Given the description of an element on the screen output the (x, y) to click on. 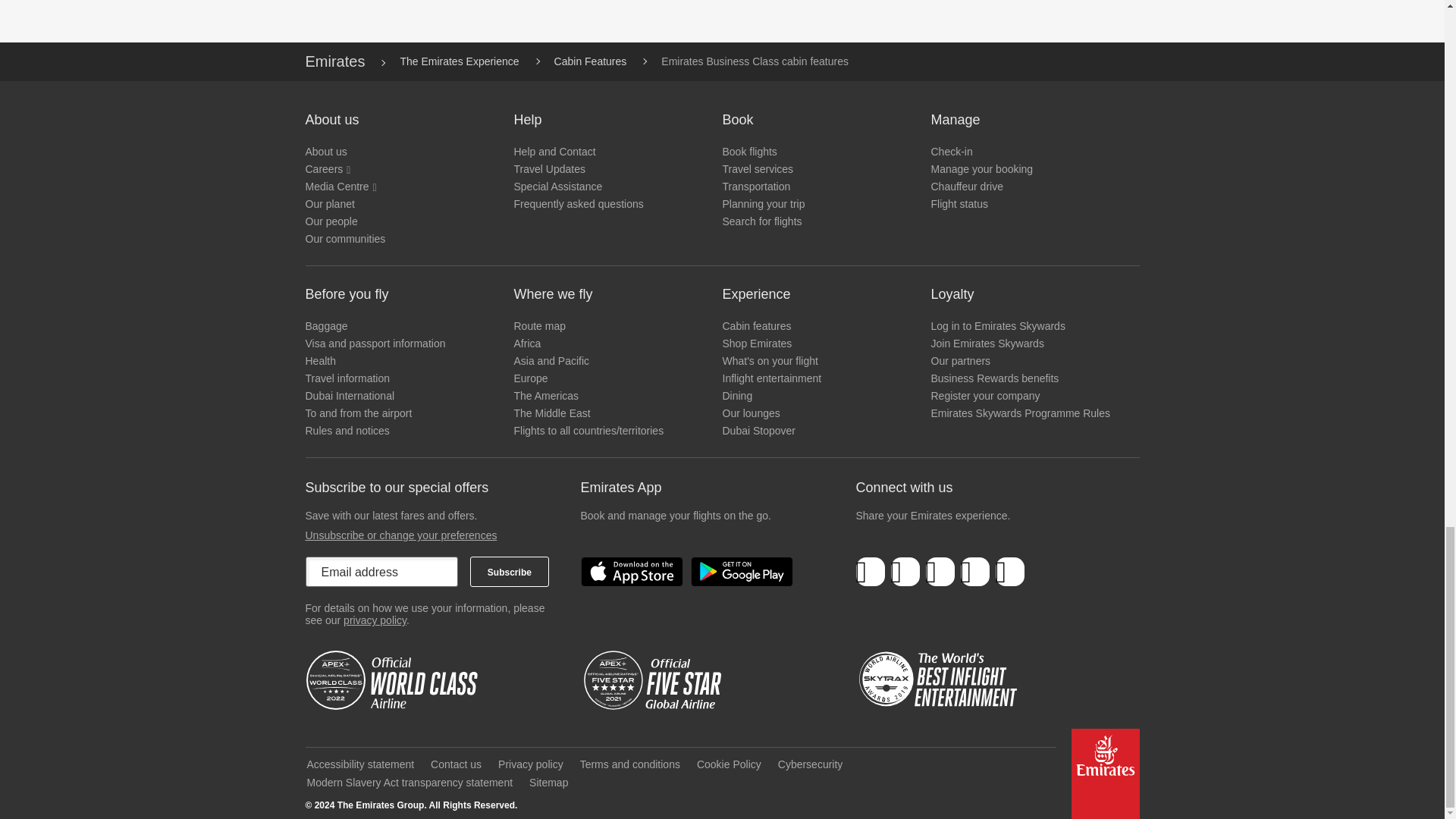
privacy policy (374, 620)
Apex five star rating 2021 (673, 680)
Facebook (870, 572)
Youtube (974, 572)
Unsubscribe or change your preferences (400, 535)
World Class Airline APEX Official Airline Ratings (395, 680)
X-social (904, 572)
LinkedIn (939, 572)
Instagram (1009, 572)
